Given the description of an element on the screen output the (x, y) to click on. 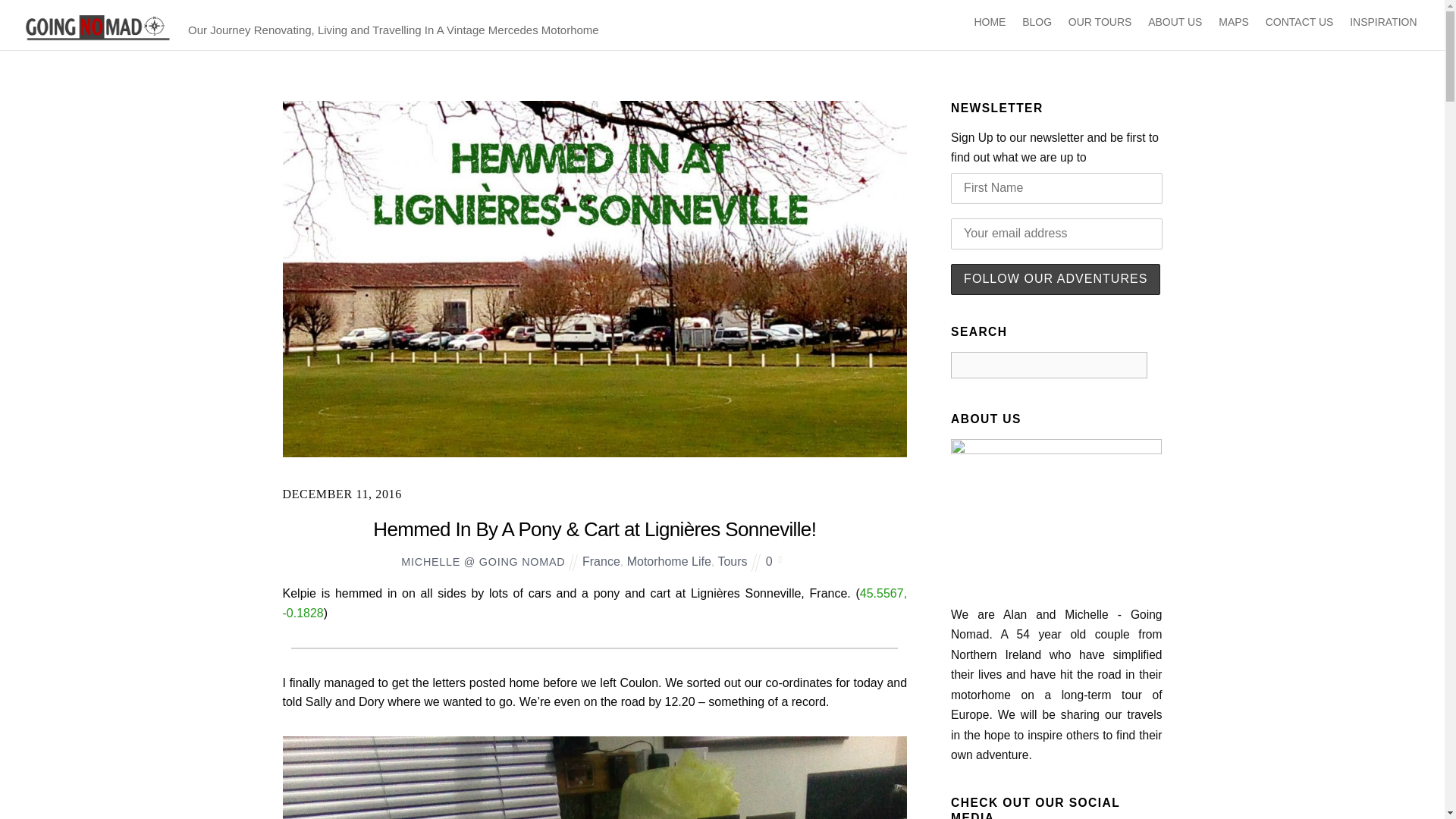
Search (1048, 365)
OUR TOURS (1099, 22)
ABOUT US (1174, 22)
France (601, 561)
BLOG (1037, 22)
Tours (731, 561)
Motorhome Life (669, 561)
CONTACT US (1299, 22)
INSPIRATION (1383, 22)
HOME (989, 22)
Going Nomad (97, 26)
45.5567, -0.1828 (594, 603)
MAPS (1233, 22)
Follow Our Adventures (1055, 278)
Follow Our Adventures (1055, 278)
